Given the description of an element on the screen output the (x, y) to click on. 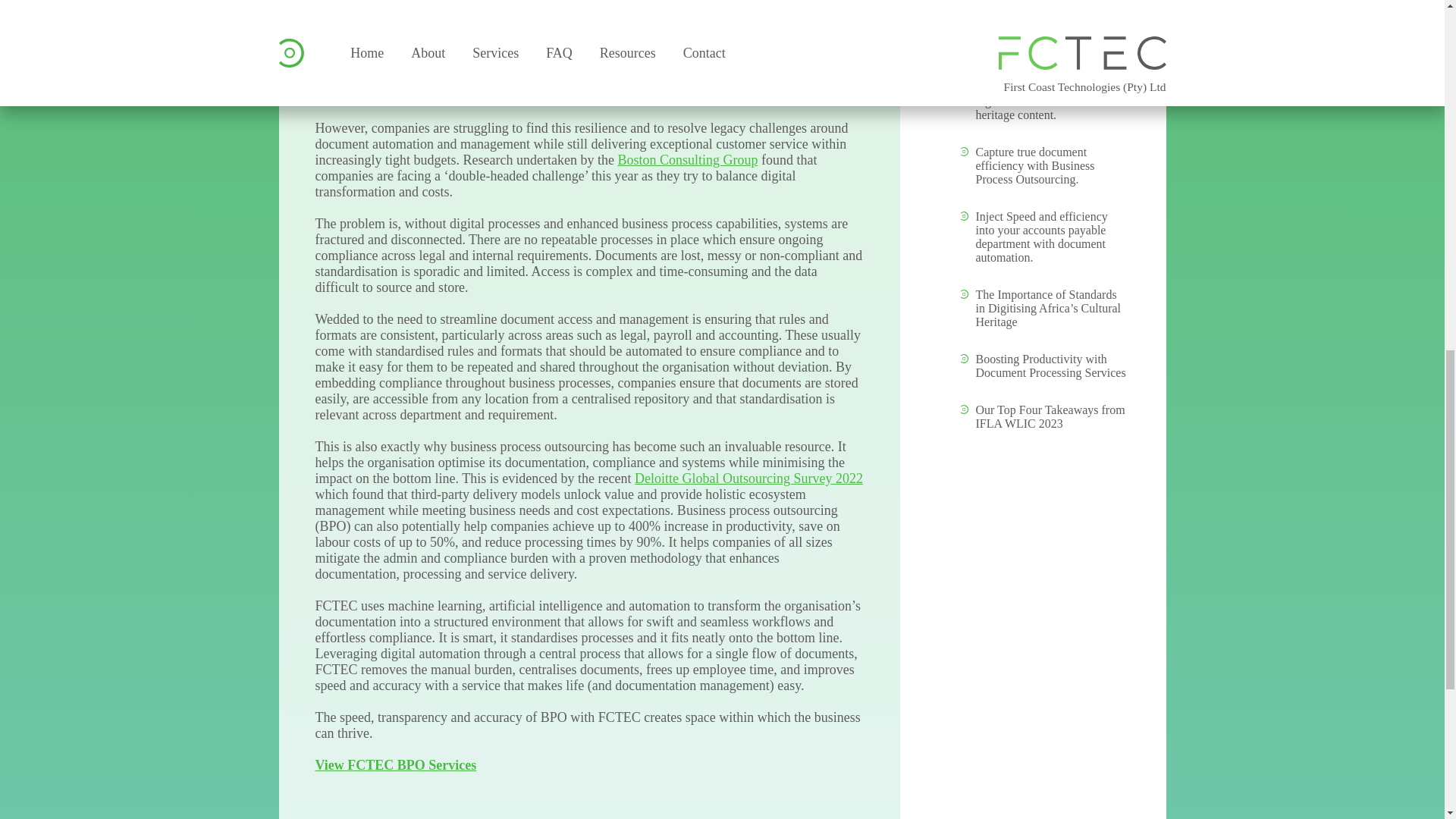
Boston Consulting Group (687, 159)
Boosting Productivity with Document Processing Services (1050, 365)
Our Top Four Takeaways from IFLA WLIC 2023 (1049, 416)
View FCTEC BPO Services (396, 765)
Deloitte Global Outsourcing Survey 2022 (748, 478)
